Given the description of an element on the screen output the (x, y) to click on. 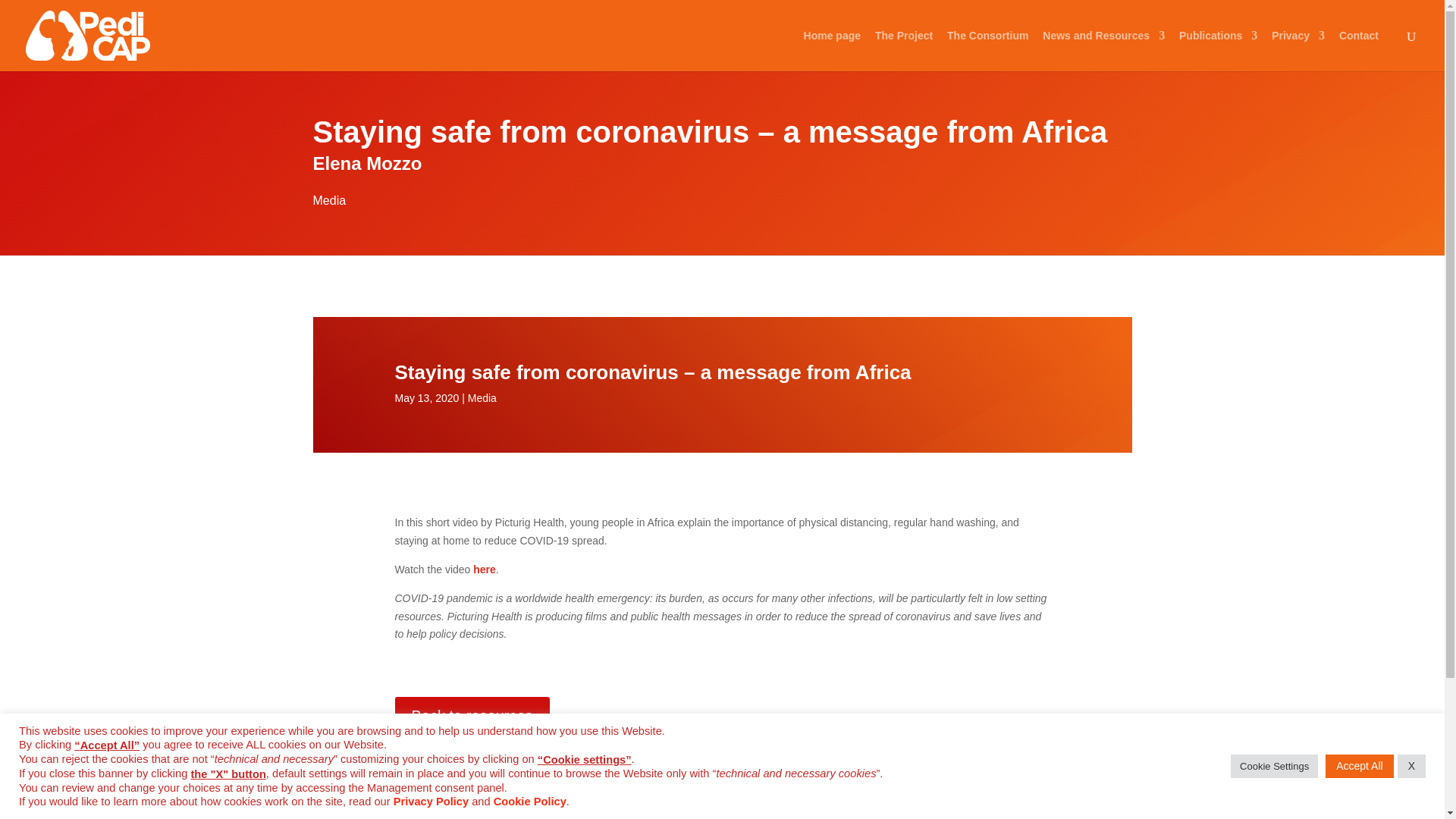
News and Resources (1103, 50)
Cookie Settings (1273, 766)
Contact (1358, 50)
Privacy (1297, 50)
Cookie Policy (529, 801)
X (1411, 766)
Accept All (1358, 766)
Home page (831, 50)
The Project (904, 50)
Media (329, 200)
here (484, 569)
Publications (1218, 50)
The Consortium (987, 50)
Privacy Policy (430, 801)
Media (481, 398)
